Given the description of an element on the screen output the (x, y) to click on. 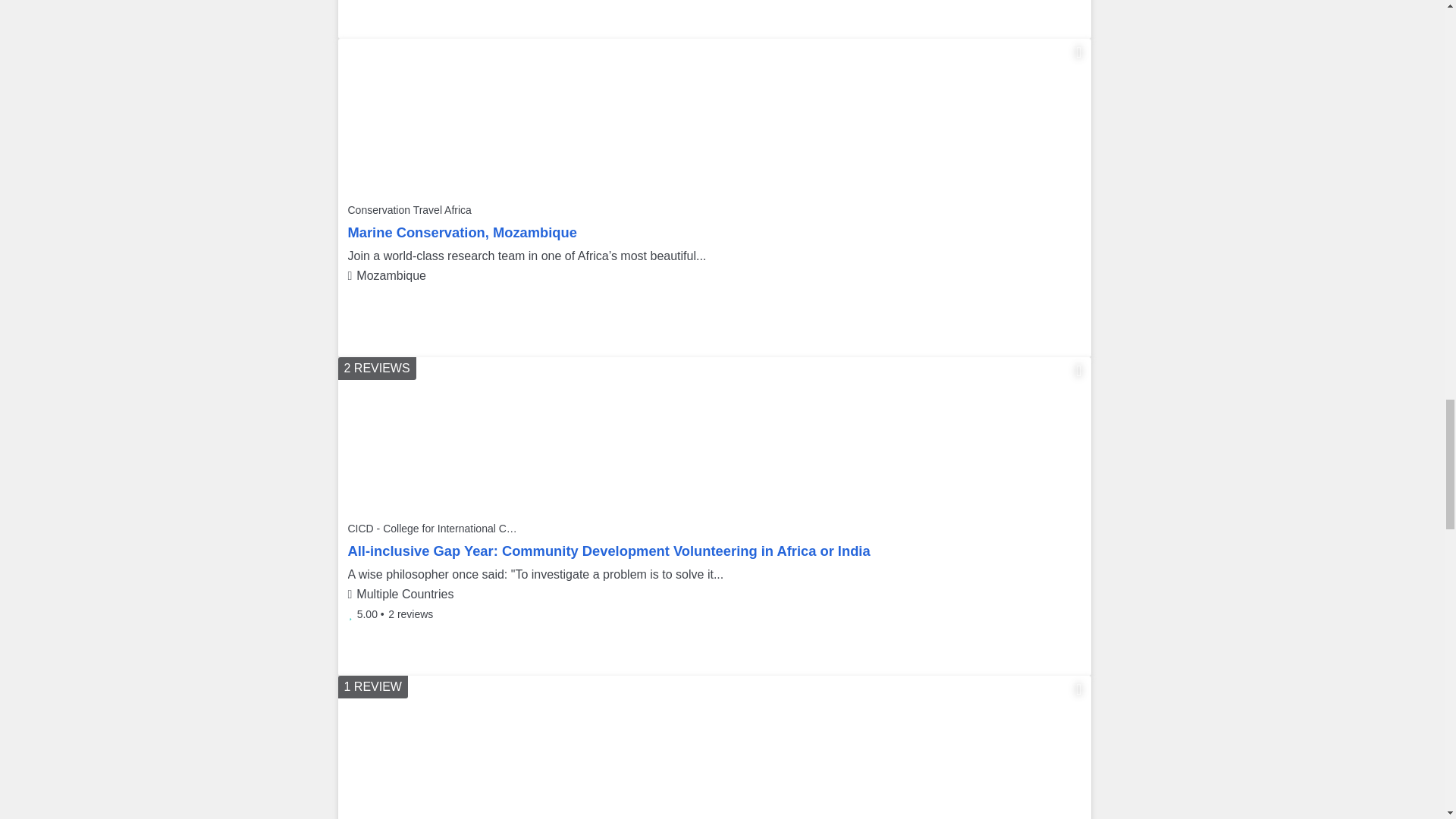
Add this program to your wish list. (1078, 370)
Add this program to your wish list. (1078, 52)
Add this program to your wish list. (1078, 688)
Volunteer in England, Africa and India! (714, 432)
